Given the description of an element on the screen output the (x, y) to click on. 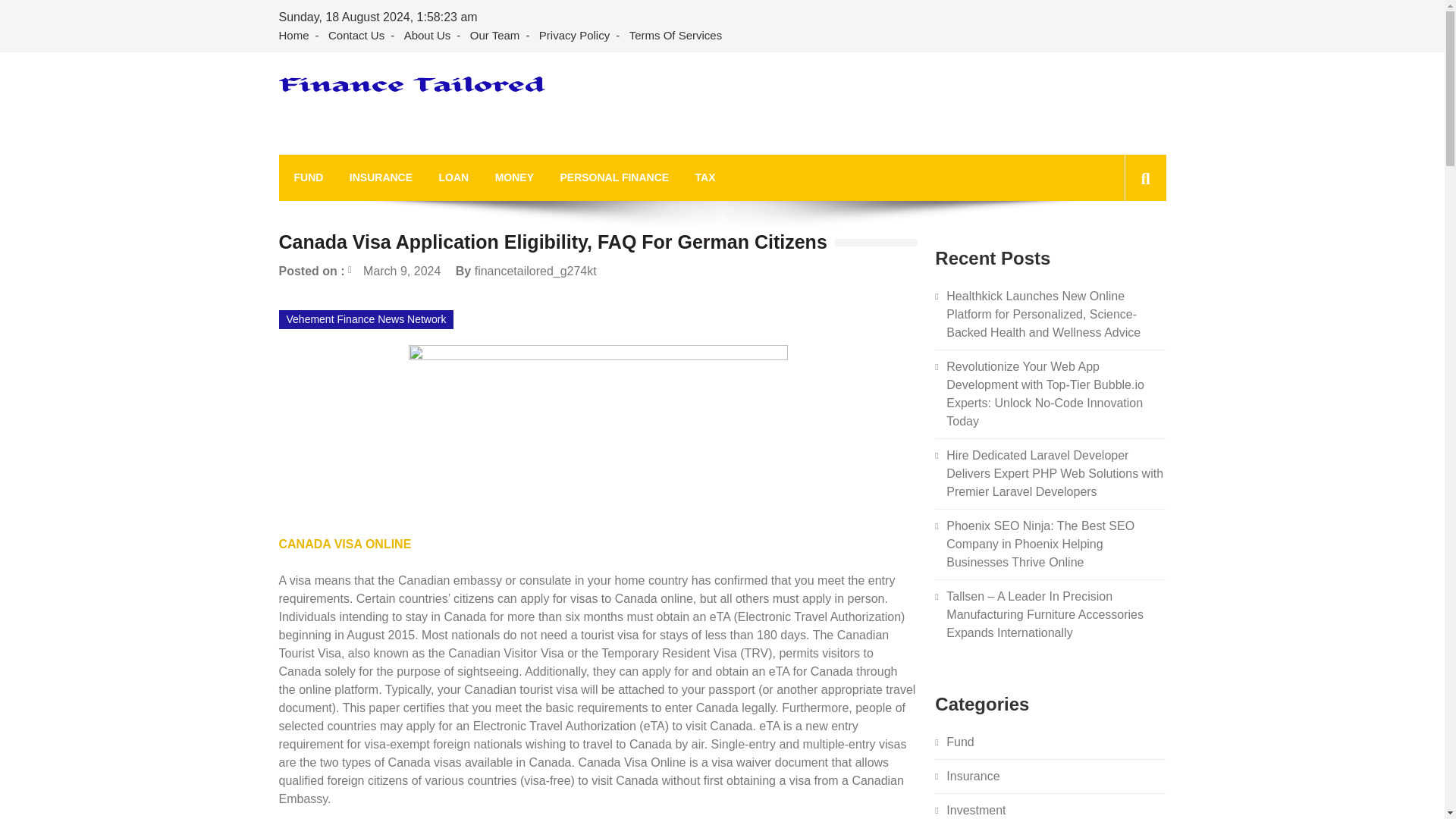
About Us (427, 36)
Home (297, 36)
Our Team (494, 36)
CANADA VISA ONLINE (345, 543)
Search (1120, 246)
Vehement Finance News Network (366, 319)
Terms Of Services (676, 36)
PERSONAL FINANCE (613, 177)
